Given the description of an element on the screen output the (x, y) to click on. 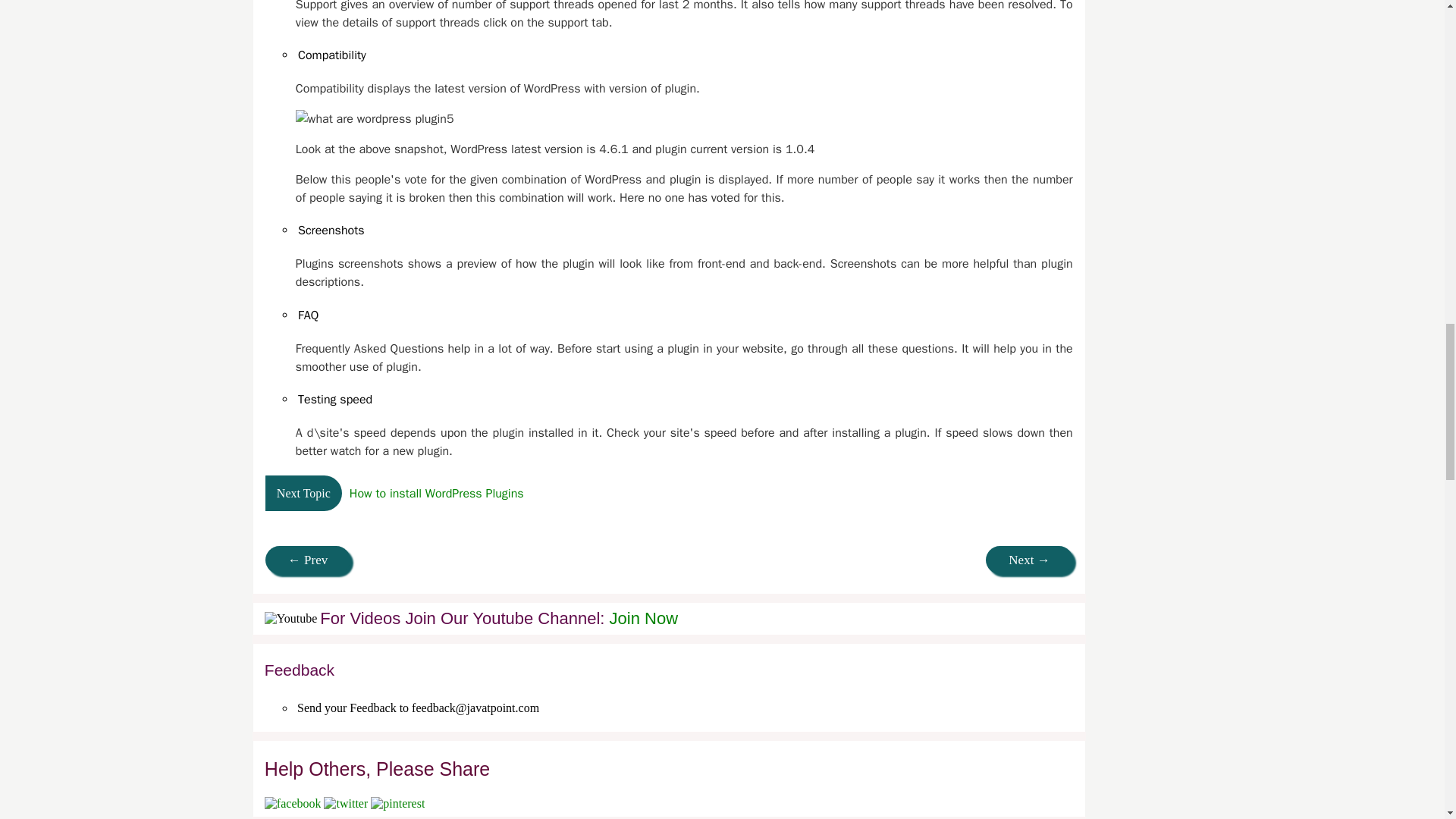
Pinterest (398, 802)
Twitter (345, 802)
Facebook (292, 802)
